Given the description of an element on the screen output the (x, y) to click on. 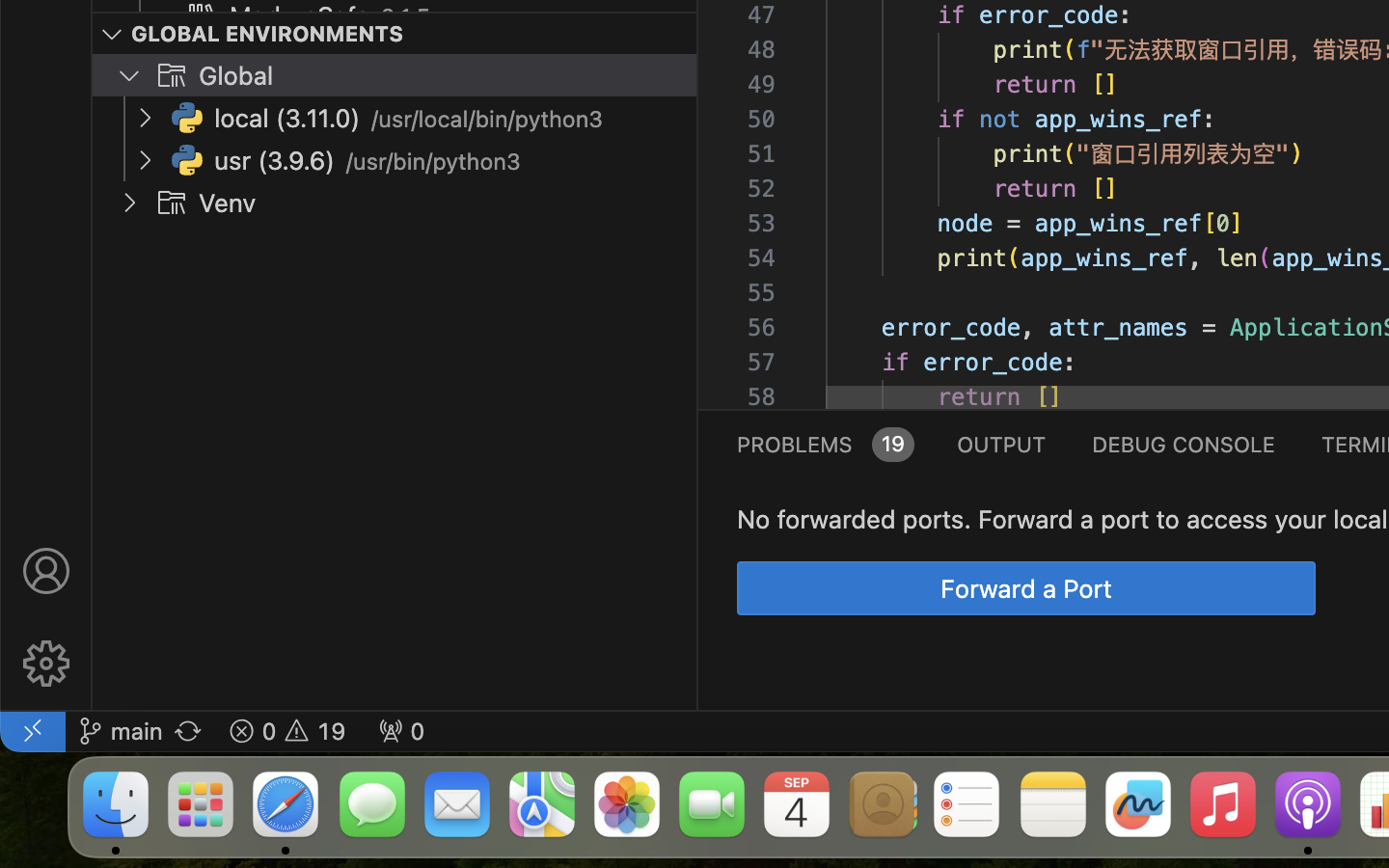
usr (3.9.6) Element type: AXStaticText (274, 160)
Global Element type: AXStaticText (235, 75)
